Given the description of an element on the screen output the (x, y) to click on. 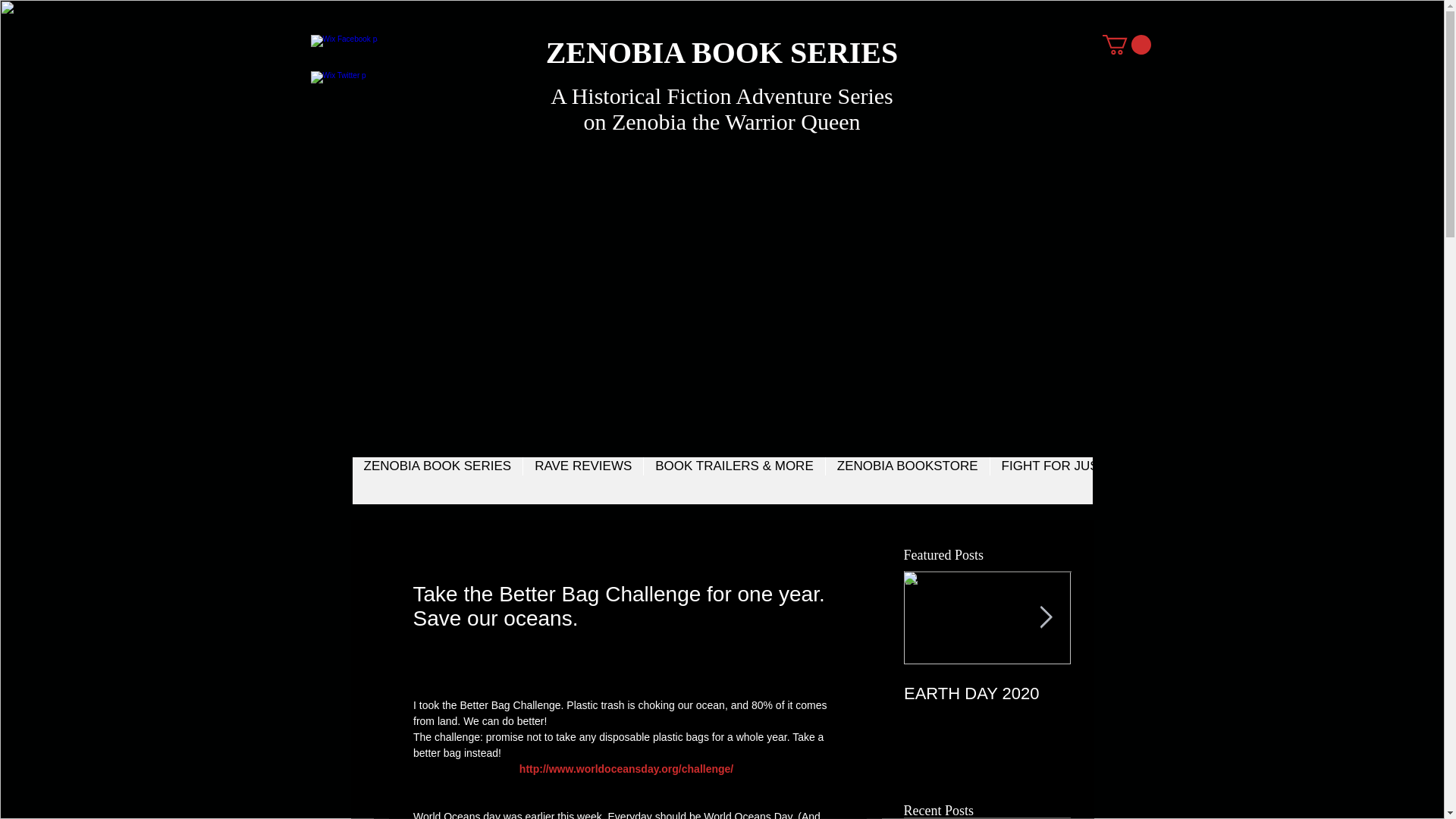
EARTH DAY 2020 (987, 677)
GREAT SUMMER READS part 2 (987, 693)
